Given the description of an element on the screen output the (x, y) to click on. 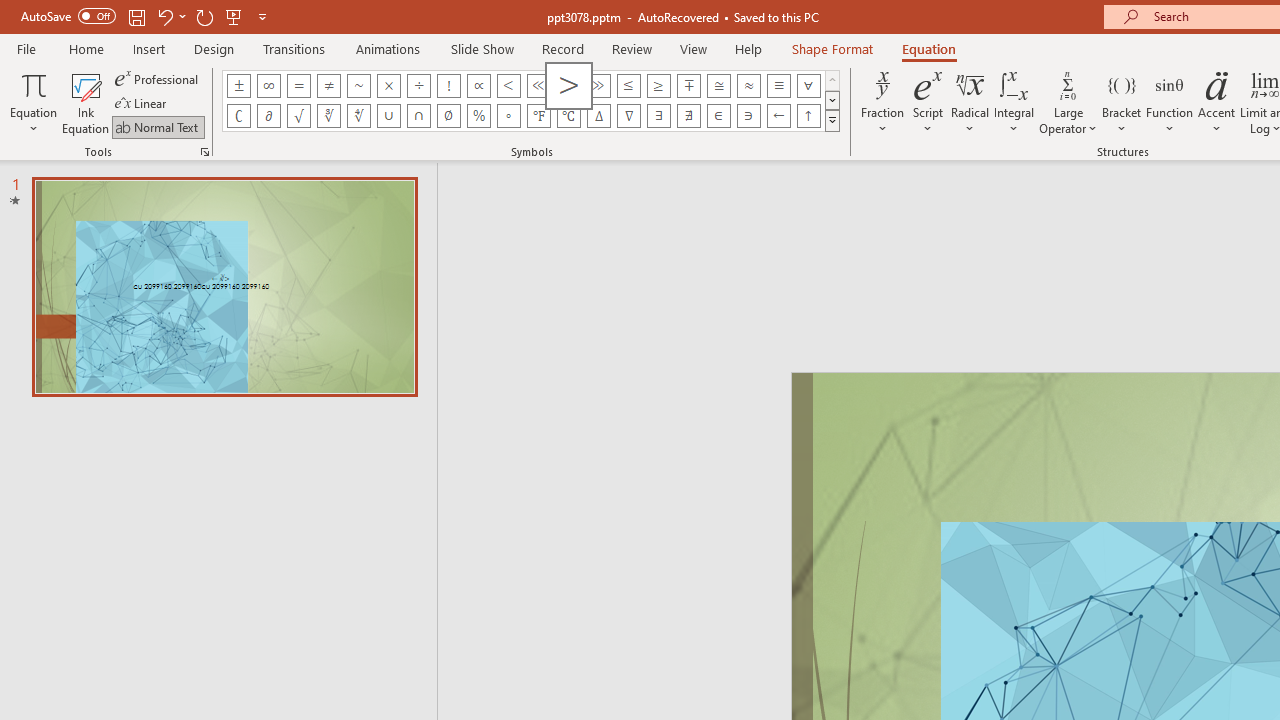
Equation Symbol Less Than (508, 85)
Equation Symbol Almost Equal To (Asymptotic To) (748, 85)
Equation Symbol Partial Differential (268, 115)
AutomationID: EquationSymbolsInsertGallery (532, 100)
Equation Symbol Left Arrow (778, 115)
Equation Symbol Division Sign (418, 85)
Equation Symbol Greater Than (568, 85)
Equation Symbol Degrees Fahrenheit (538, 115)
Radical (970, 102)
Equation Symbol Empty Set (448, 115)
Professional (158, 78)
